Given the description of an element on the screen output the (x, y) to click on. 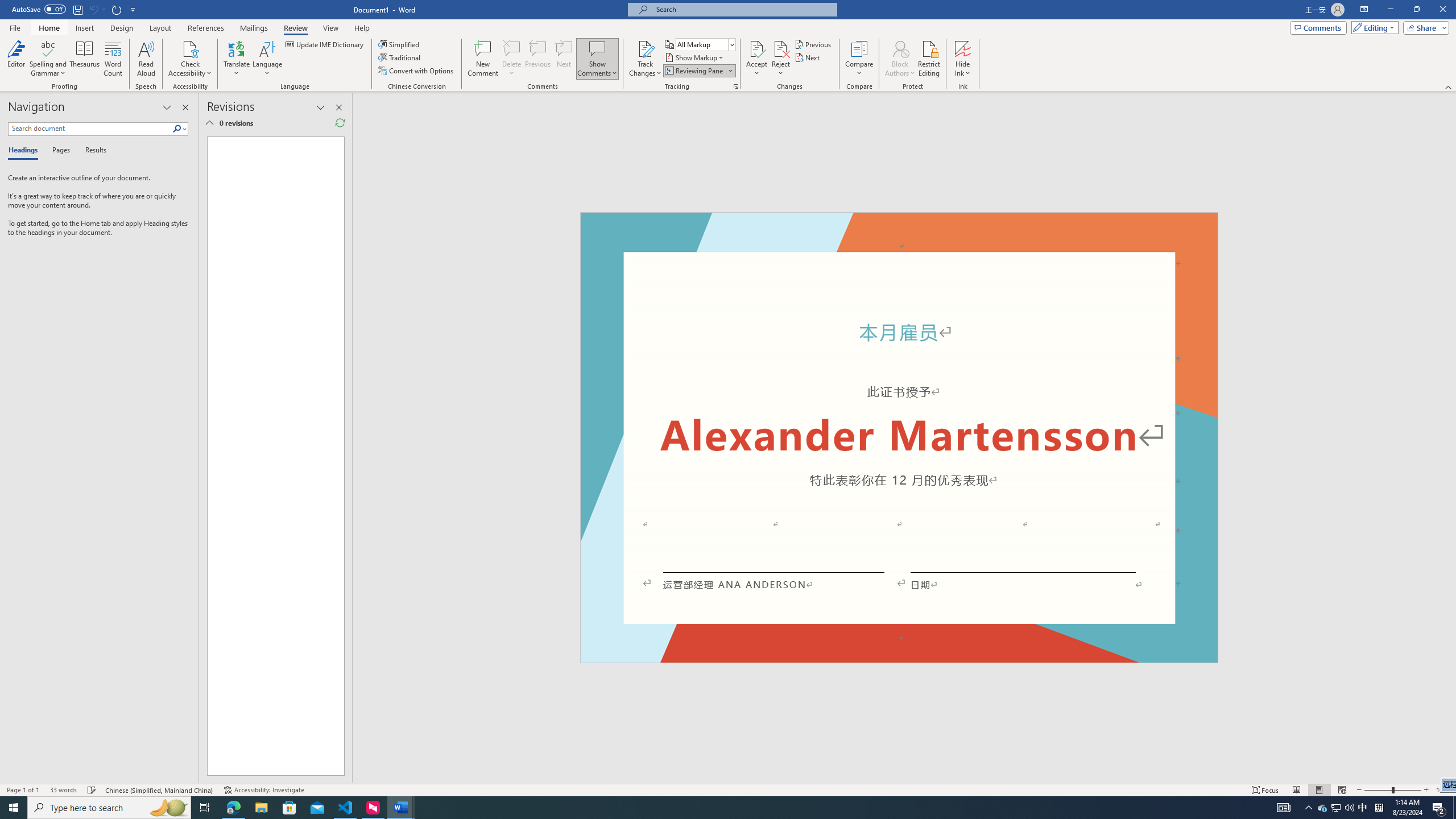
Reviewing Pane (694, 69)
Show Comments (597, 58)
Footer -Section 1- (898, 657)
Hide Ink (962, 58)
Show Markup (695, 56)
Convert with Options... (417, 69)
